Given the description of an element on the screen output the (x, y) to click on. 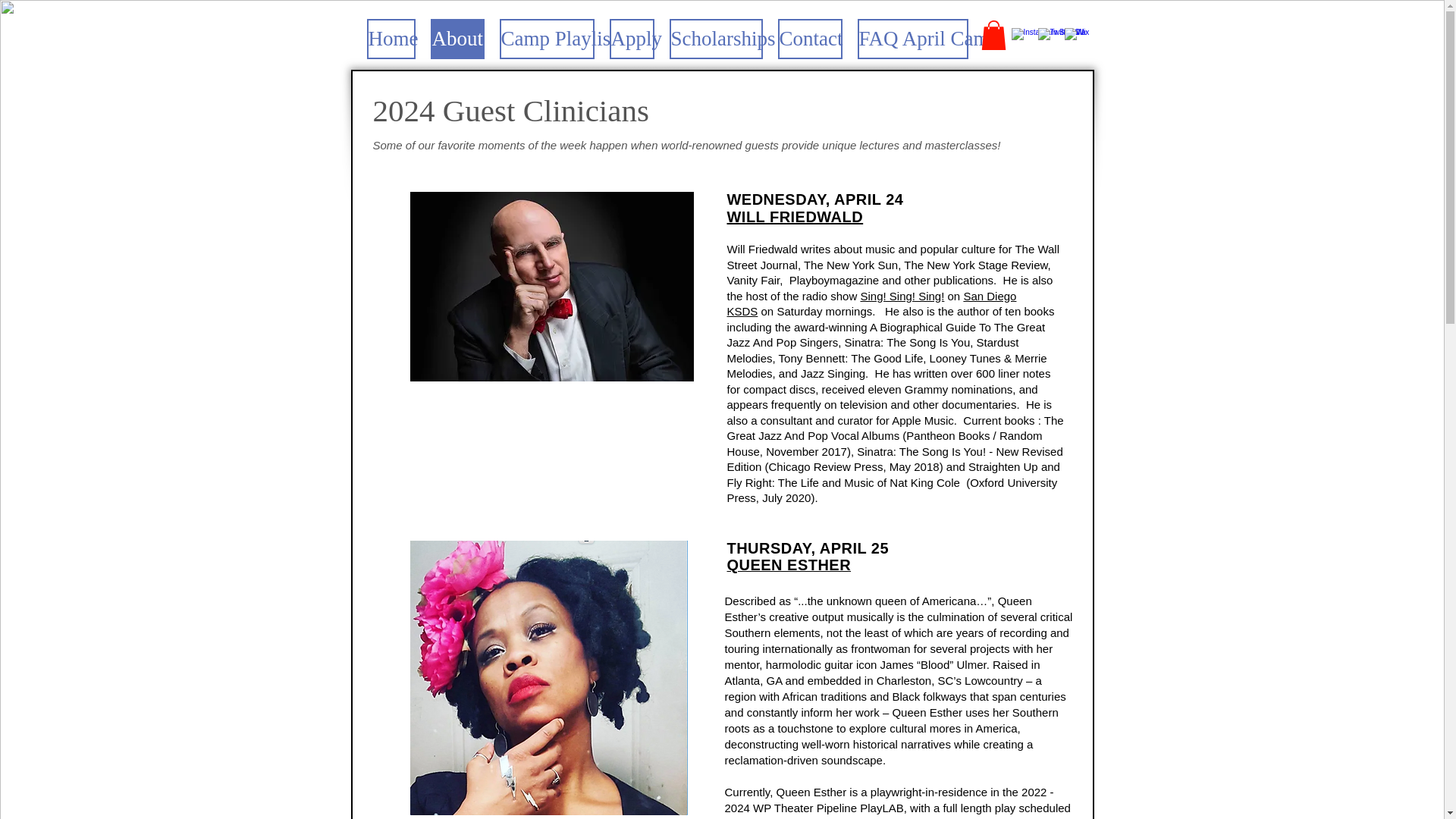
About (457, 38)
Sing! Sing! Sing! (901, 295)
Camp Playlist (546, 38)
FAQ April Camp (912, 38)
Contact (810, 38)
San Diego KSDS (871, 303)
Scholarships (714, 38)
Home (390, 38)
Apply (631, 38)
